Given the description of an element on the screen output the (x, y) to click on. 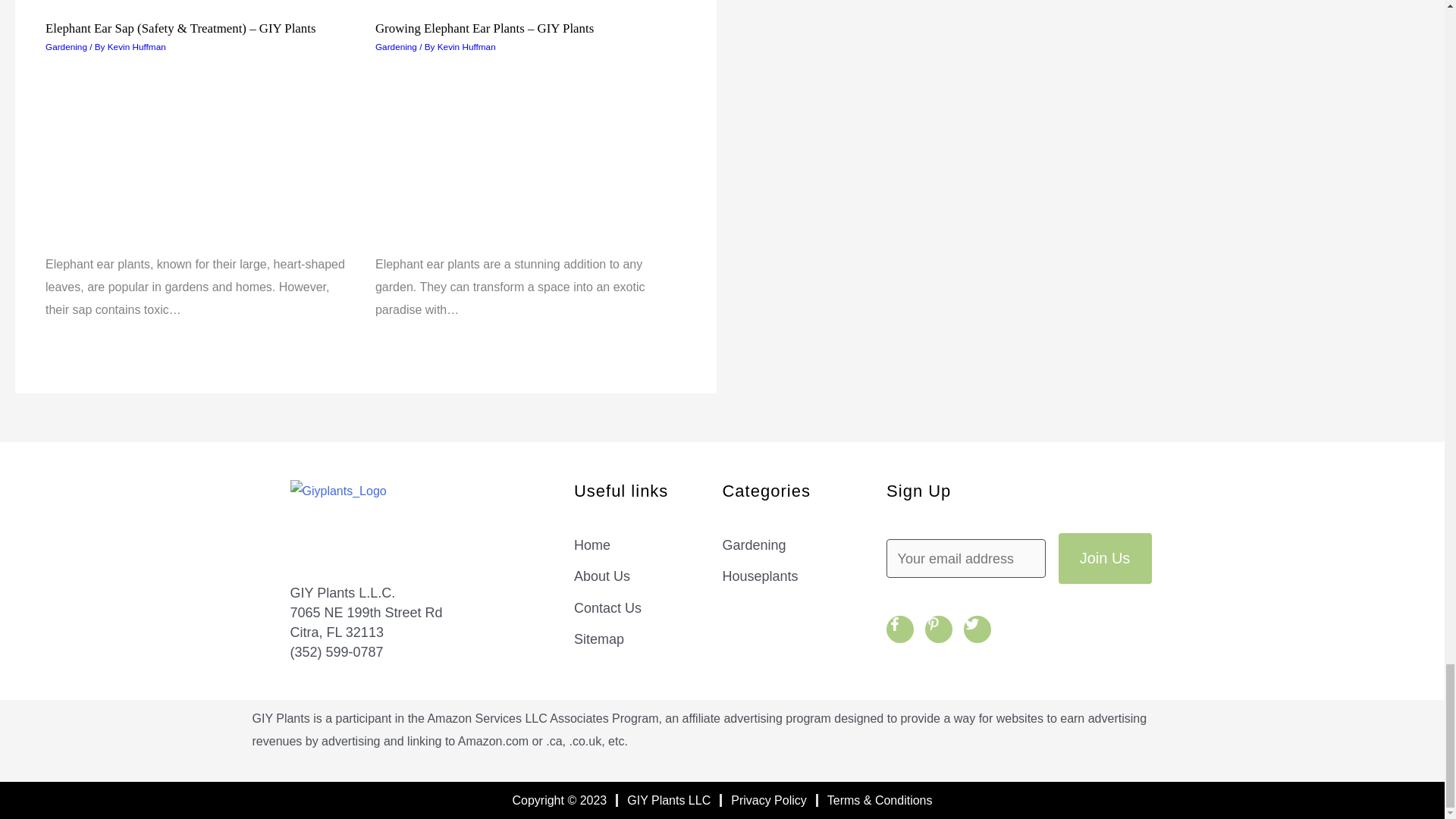
 Join Us (1104, 558)
